Given the description of an element on the screen output the (x, y) to click on. 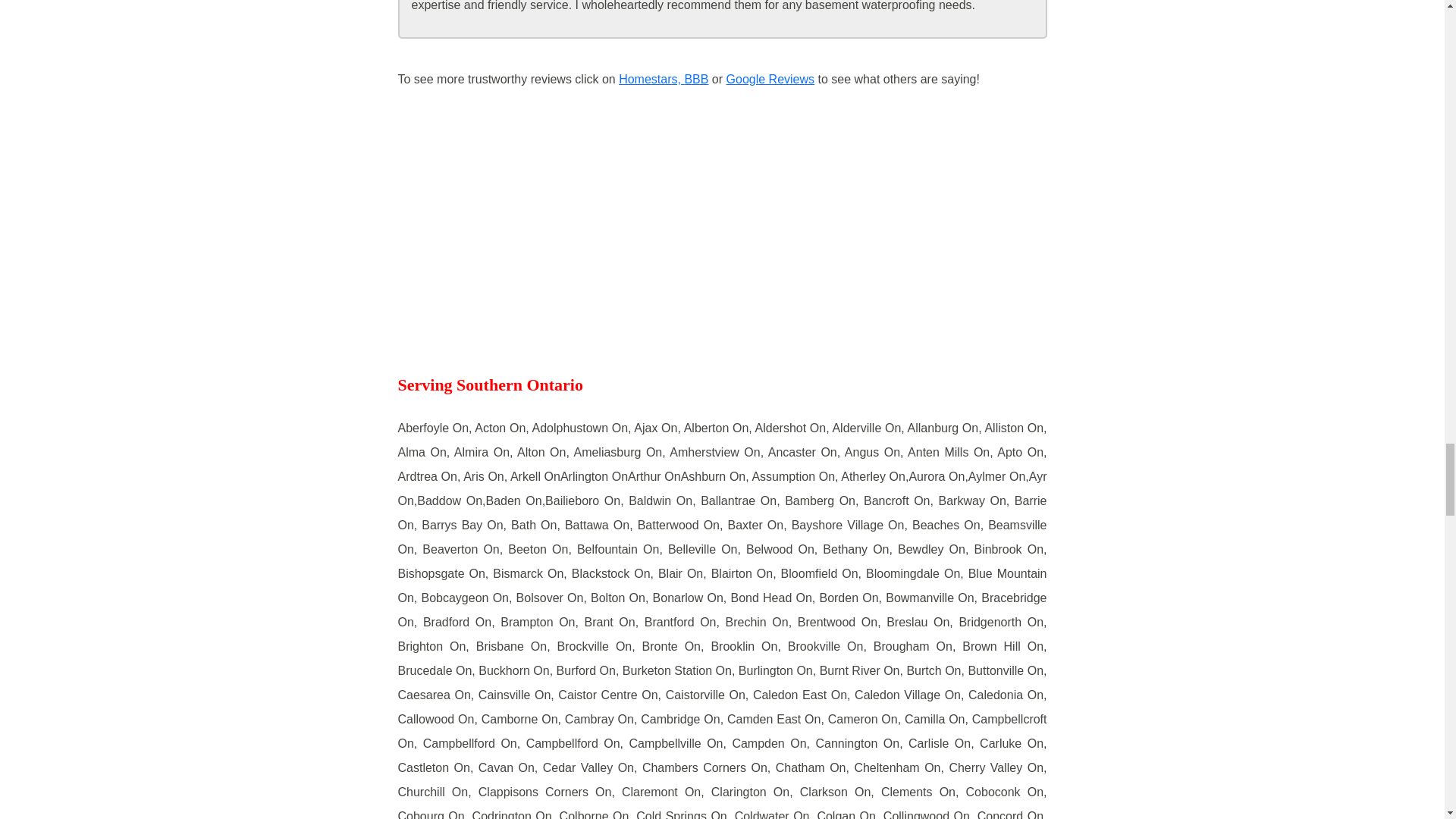
Google Reviews (770, 78)
BBB (695, 78)
Homestars, (651, 78)
